Given the description of an element on the screen output the (x, y) to click on. 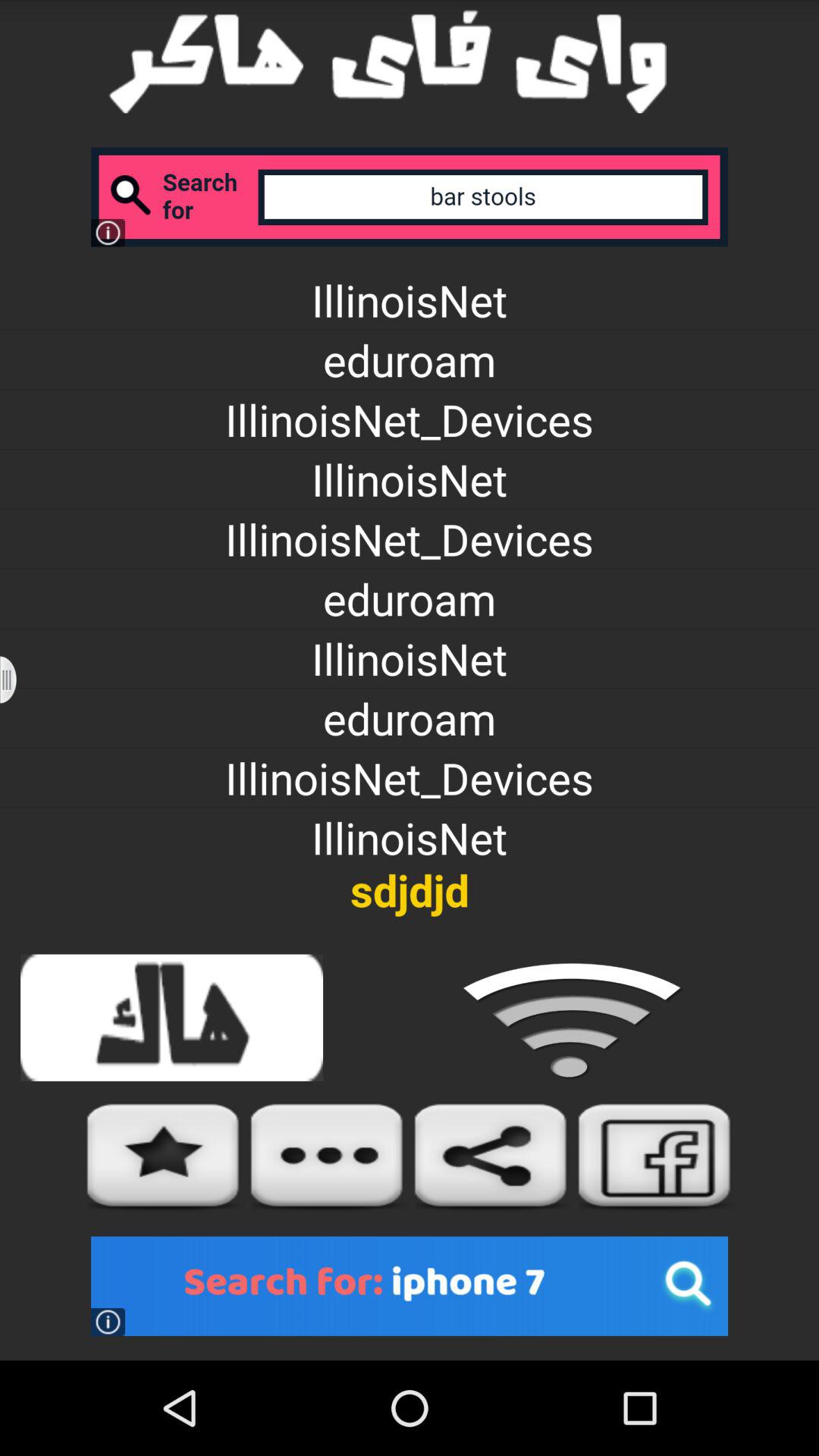
open facebook (655, 1156)
